Given the description of an element on the screen output the (x, y) to click on. 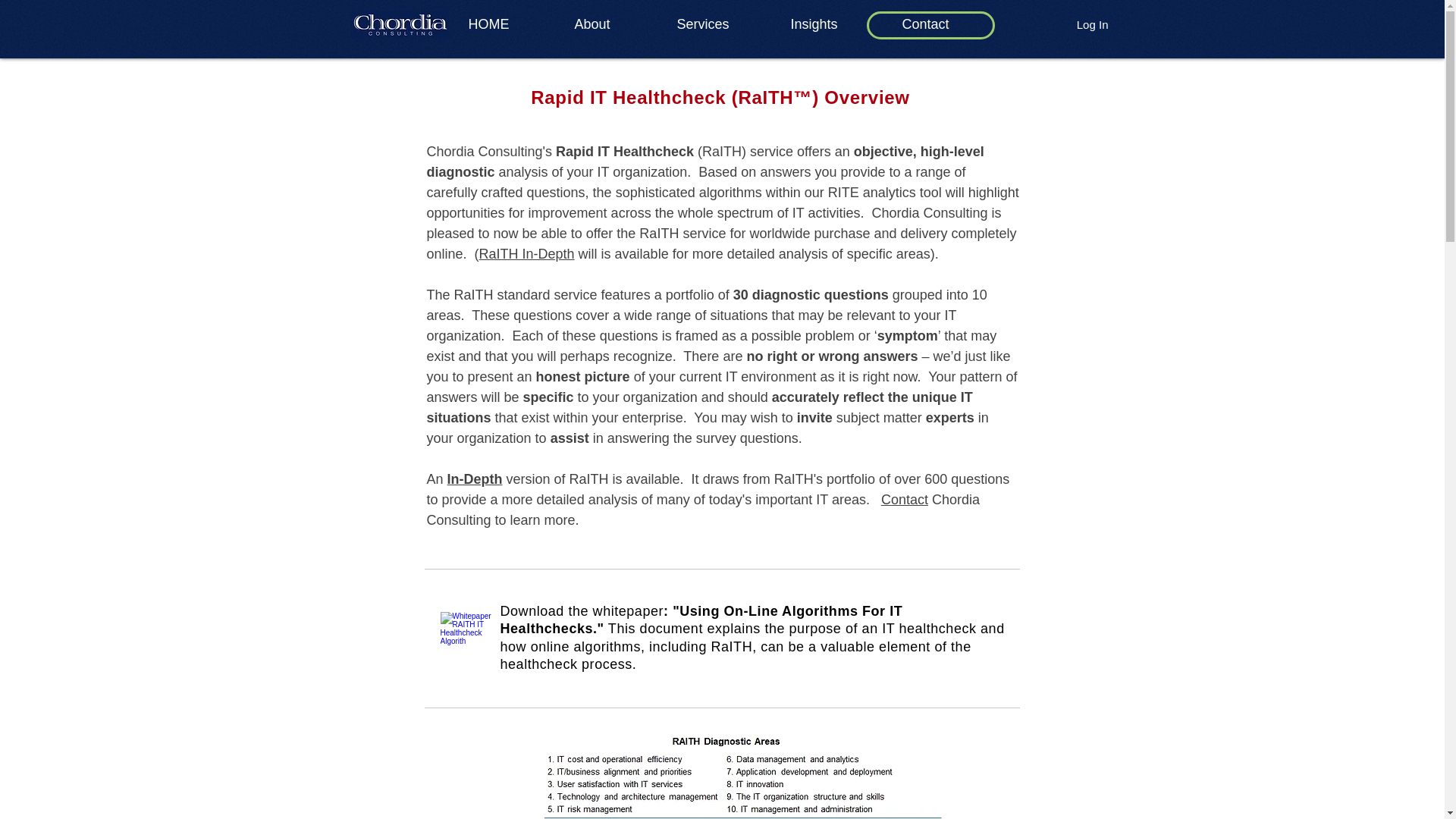
Contact (904, 499)
Contact (946, 23)
In-Depth (474, 478)
RaITH In-Depth (527, 253)
Log In (1092, 24)
Whitepaper RAITH IT Healthcheck Algorith (466, 636)
HOME (509, 23)
Services (721, 23)
